Given the description of an element on the screen output the (x, y) to click on. 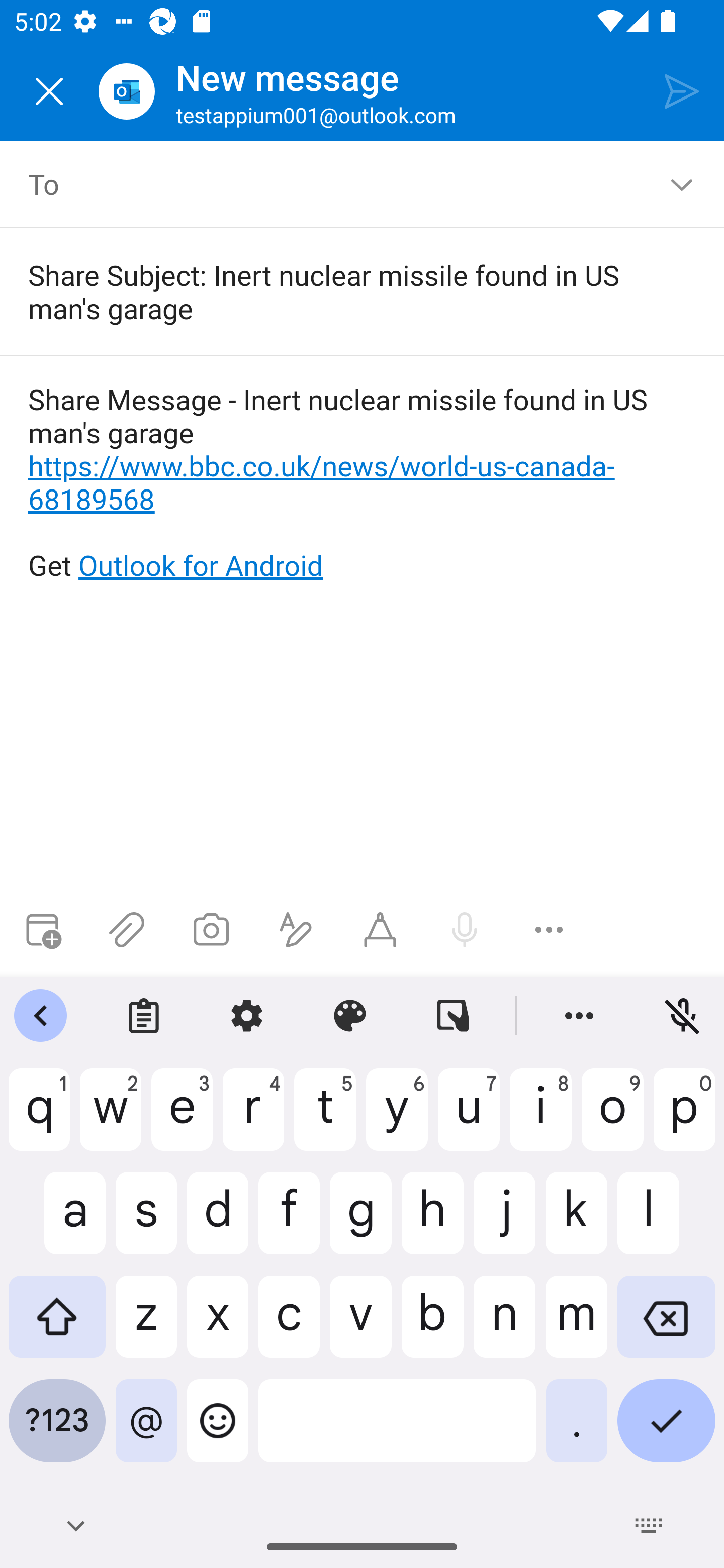
Close (49, 91)
Send (681, 90)
Attach meeting (42, 929)
Attach files (126, 929)
Take a photo (210, 929)
Show formatting options (295, 929)
Start Ink compose (380, 929)
More options (548, 929)
